Given the description of an element on the screen output the (x, y) to click on. 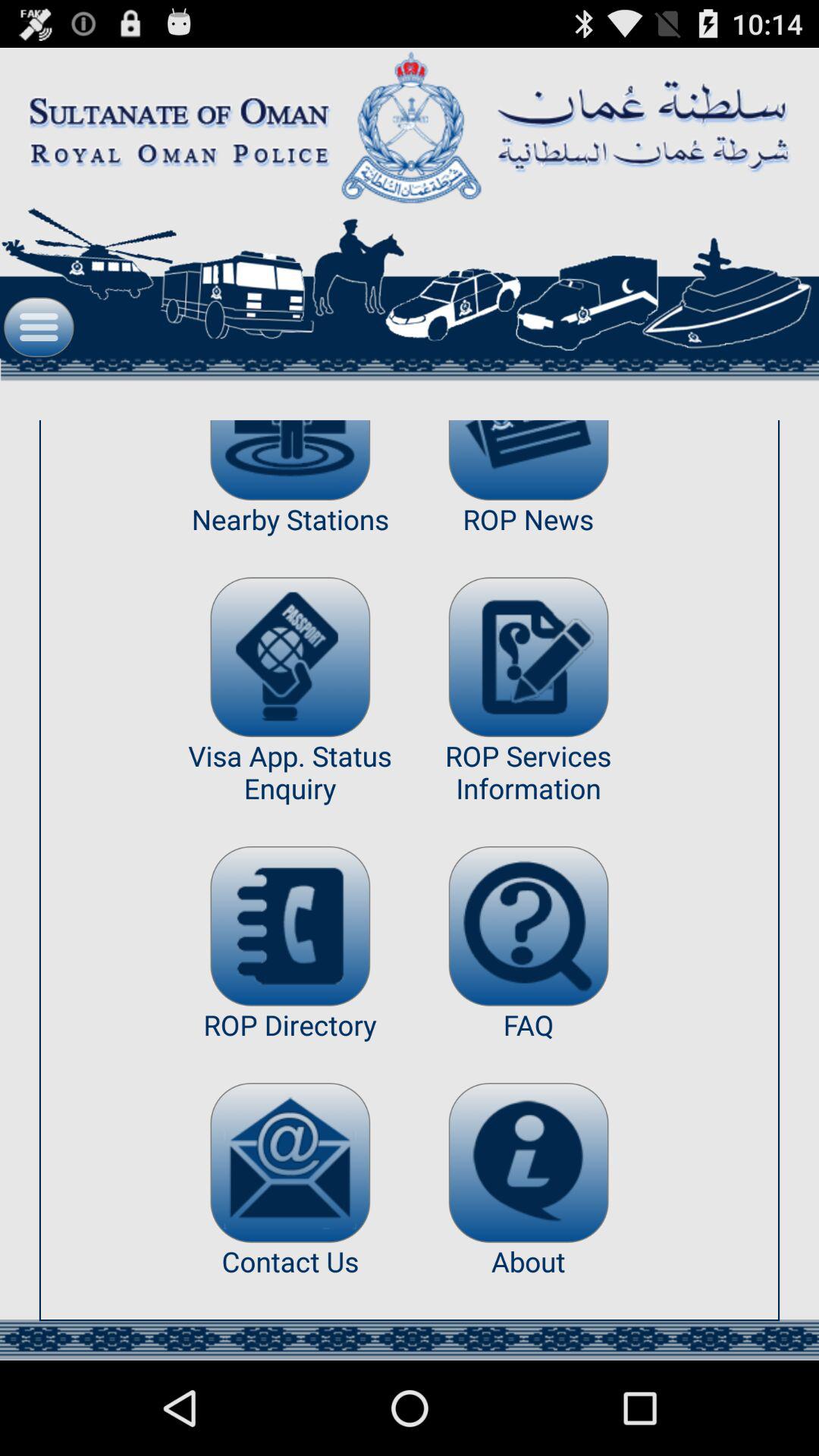
go to rop directory (290, 926)
